Given the description of an element on the screen output the (x, y) to click on. 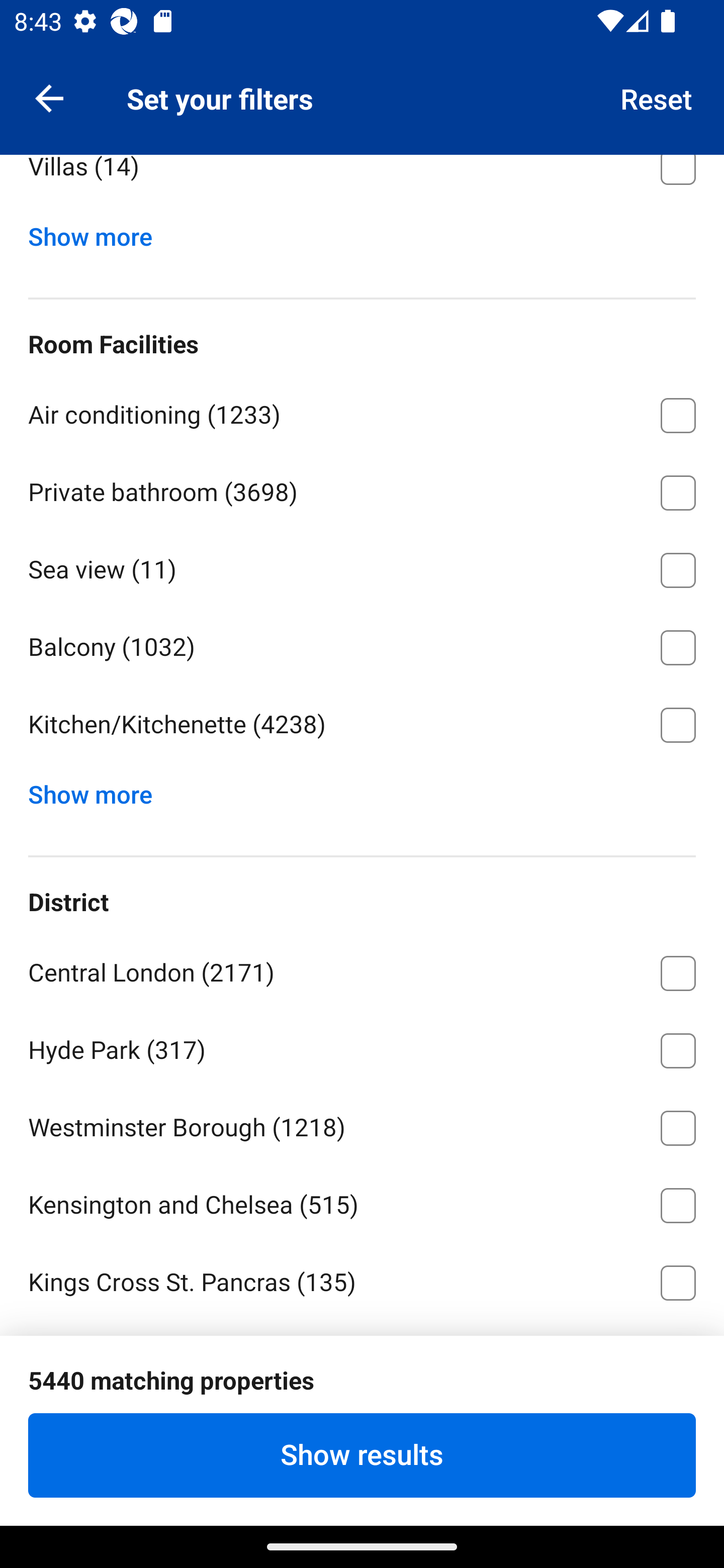
Hotels ⁦(961) (361, 86)
Navigate up (49, 97)
Reset (656, 97)
Villas ⁦(14) (361, 182)
Show more (97, 232)
Air conditioning ⁦(1233) (361, 412)
Private bathroom ⁦(3698) (361, 489)
Sea view ⁦(11) (361, 566)
Balcony ⁦(1032) (361, 644)
Kitchen/Kitchenette ⁦(4238) (361, 724)
Show more (97, 789)
Central London ⁦(2171) (361, 969)
Hyde Park ⁦(317) (361, 1047)
Westminster Borough ⁦(1218) (361, 1124)
Kensington and Chelsea ⁦(515) (361, 1201)
Kings Cross St. Pancras ⁦(135) (361, 1282)
Show results (361, 1454)
